Given the description of an element on the screen output the (x, y) to click on. 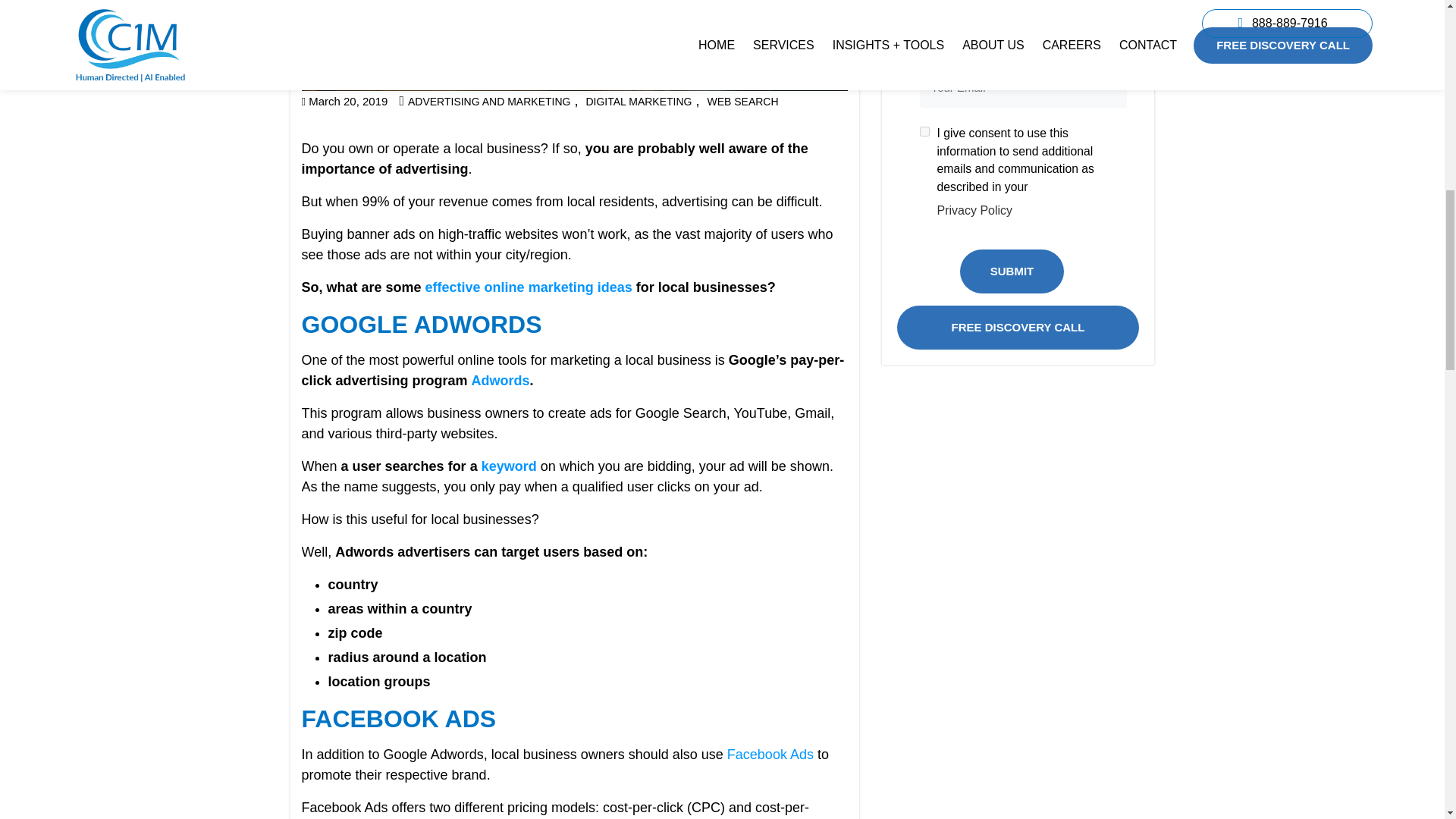
Submit (1011, 270)
